Given the description of an element on the screen output the (x, y) to click on. 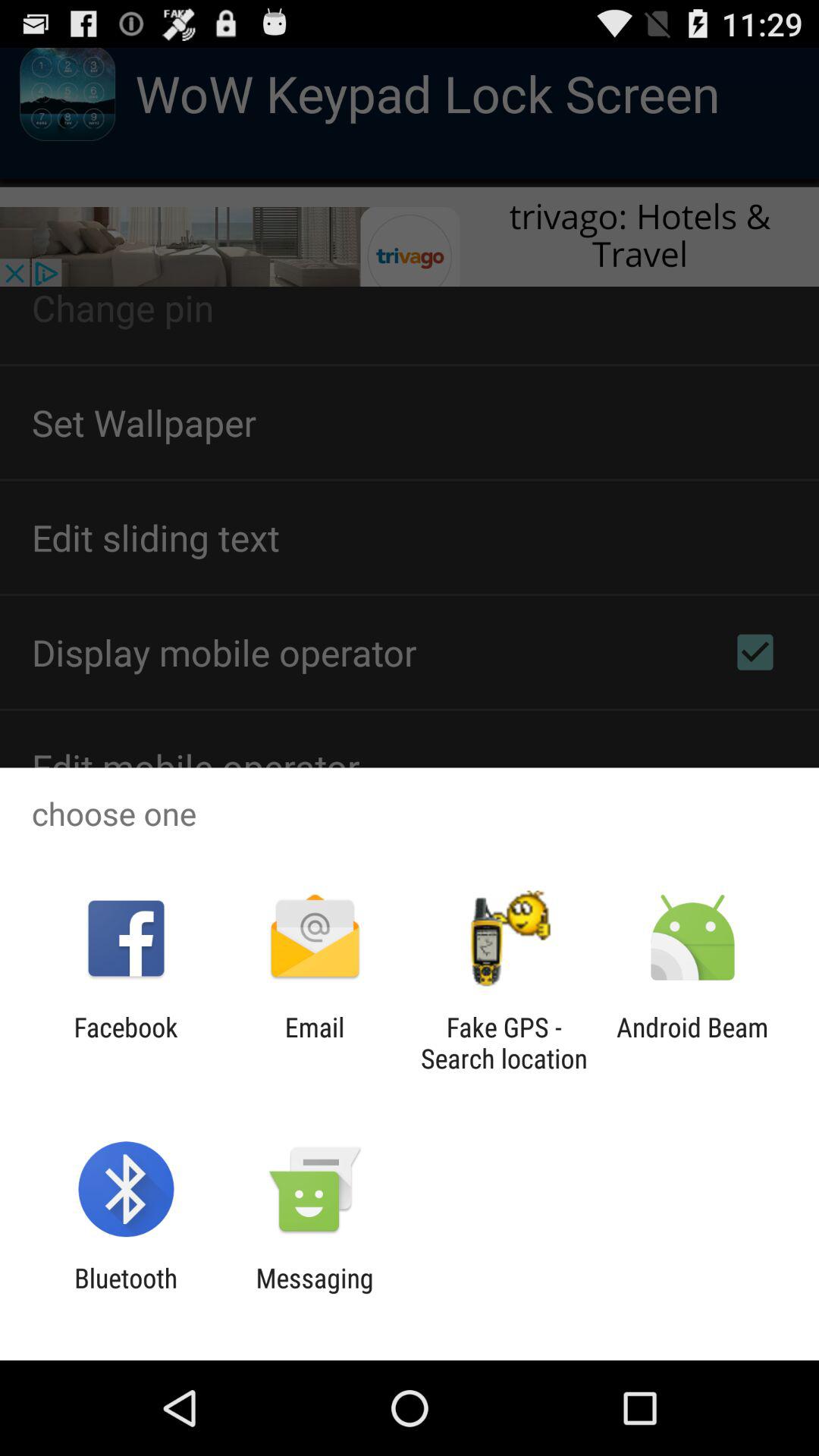
choose the icon next to the fake gps search item (692, 1042)
